Given the description of an element on the screen output the (x, y) to click on. 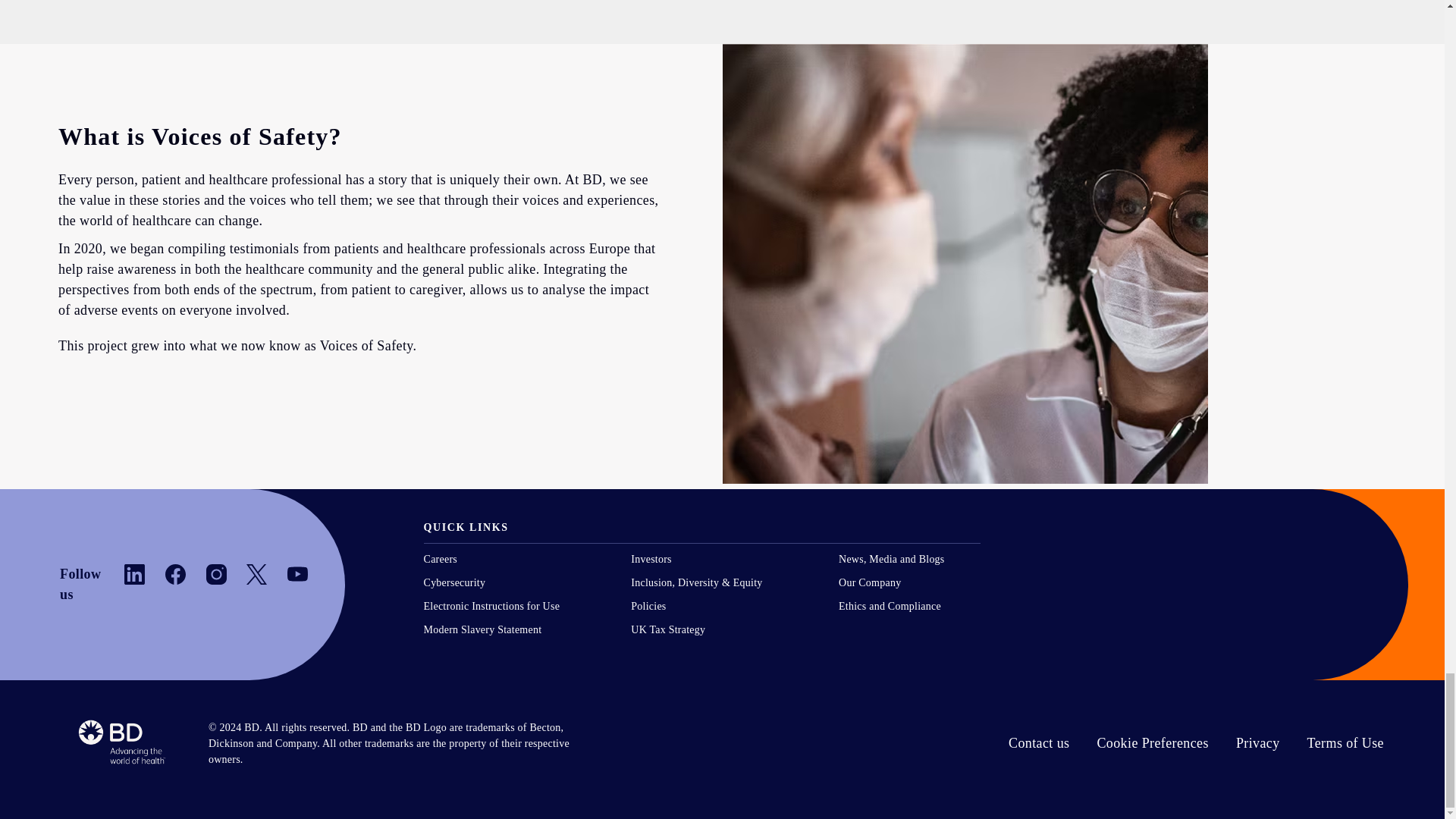
X (256, 574)
Linked In (133, 574)
Youtube (296, 574)
Facebook (175, 574)
Instagram (216, 574)
